Given the description of an element on the screen output the (x, y) to click on. 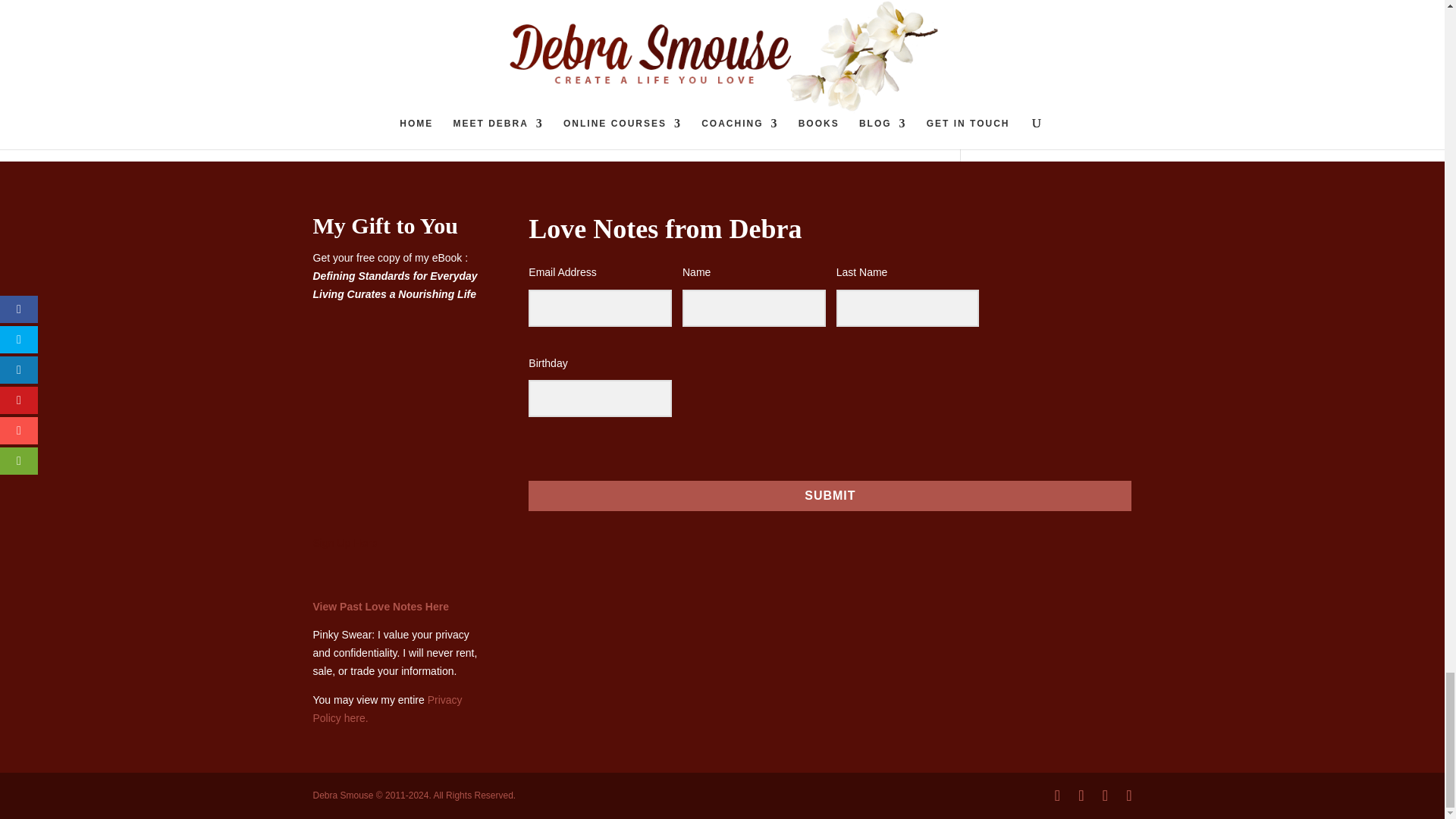
Inner Strength: Eleven Ways to Find and Grow It (573, 32)
Devotion is a Key Ingredient to Achieve Your Goals (783, 32)
Past Love Notes (380, 606)
